Given the description of an element on the screen output the (x, y) to click on. 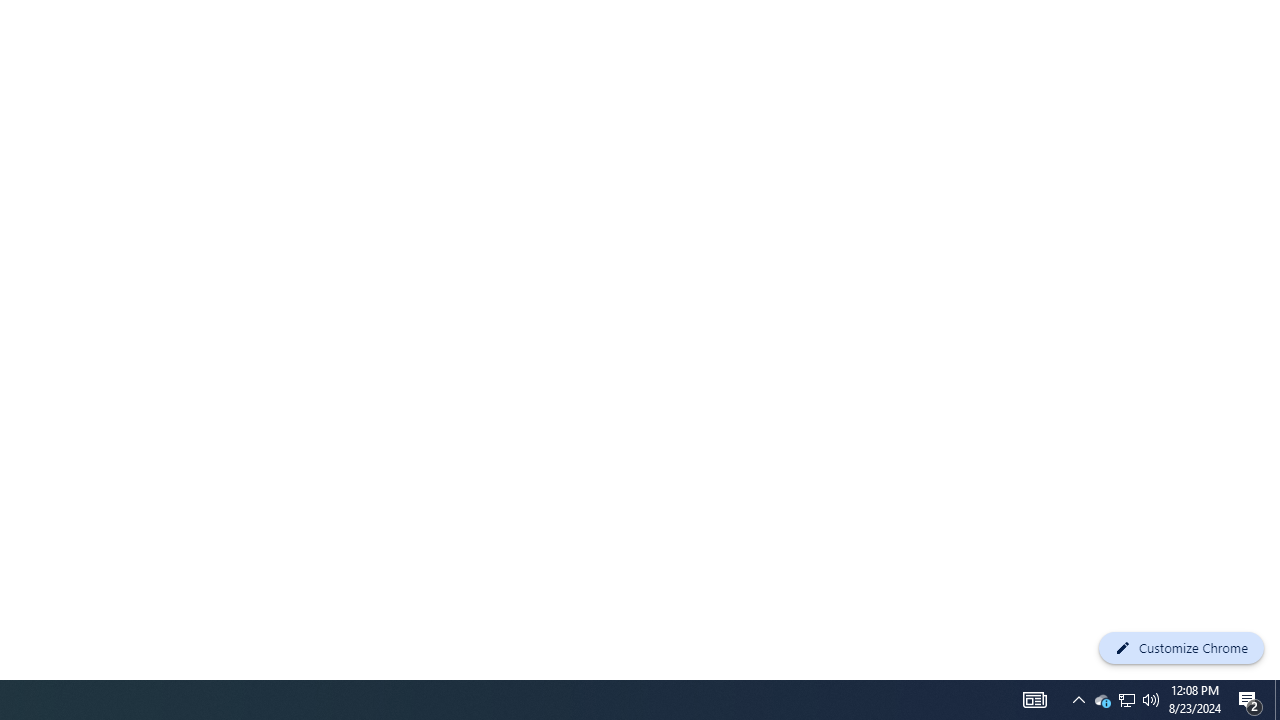
Customize Chrome (1181, 647)
